Given the description of an element on the screen output the (x, y) to click on. 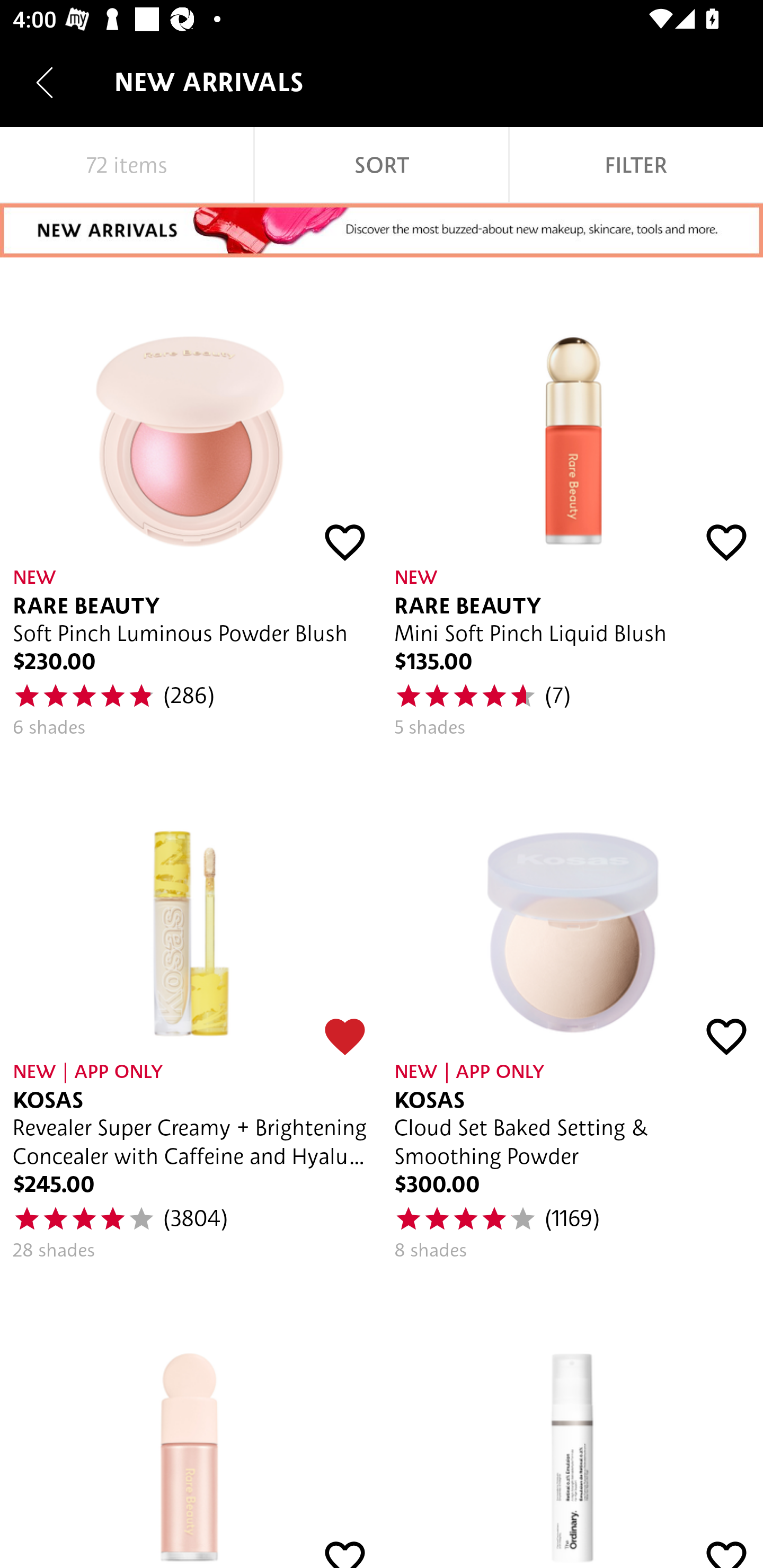
Navigate up (44, 82)
SORT (381, 165)
FILTER (636, 165)
